Given the description of an element on the screen output the (x, y) to click on. 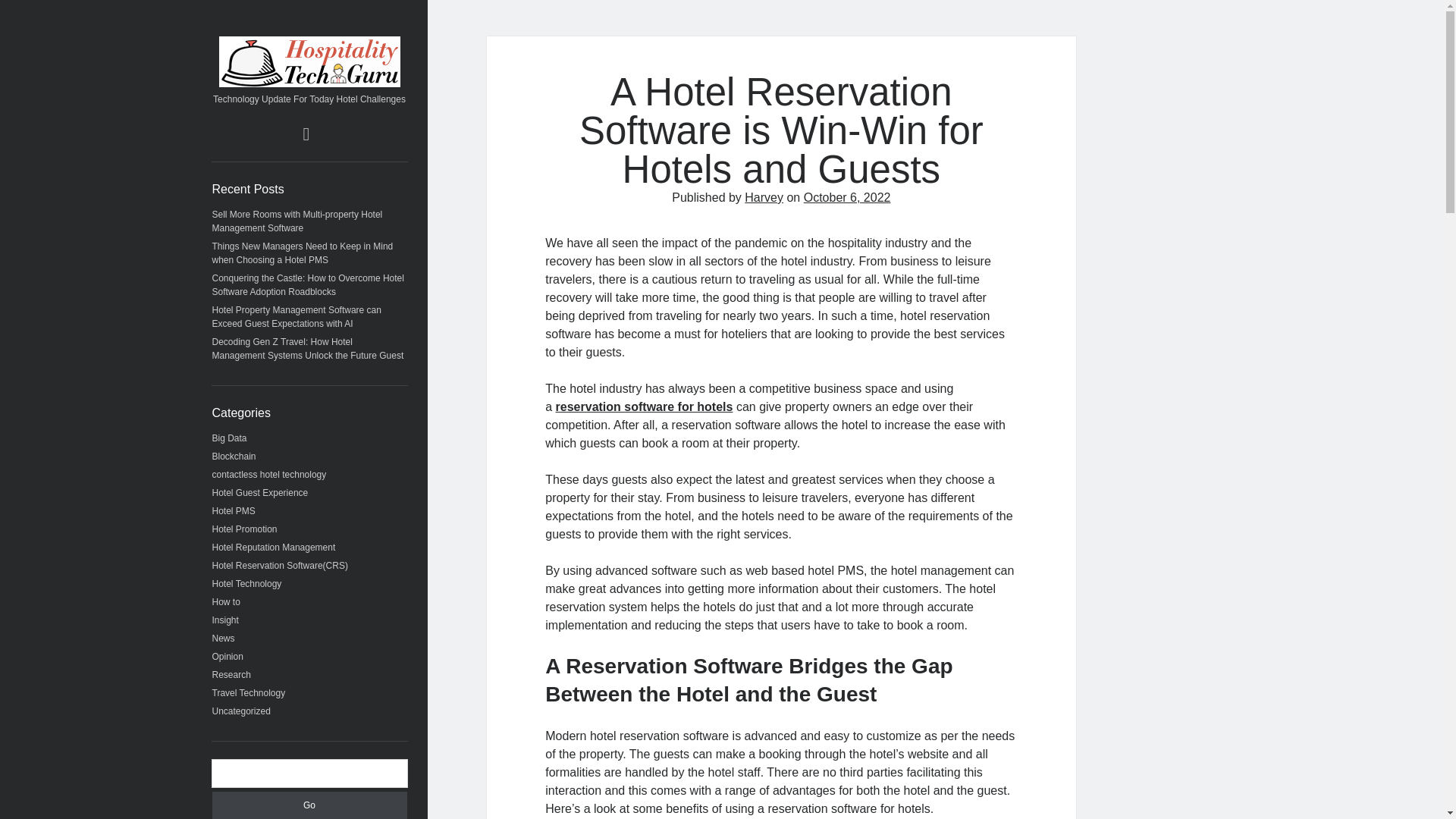
Travel Technology (248, 692)
Go (309, 805)
Opinion (227, 656)
Go (309, 805)
Hotel Reputation Management (274, 547)
contactless hotel technology (269, 474)
Go (309, 805)
Hotel Guest Experience (260, 492)
